Given the description of an element on the screen output the (x, y) to click on. 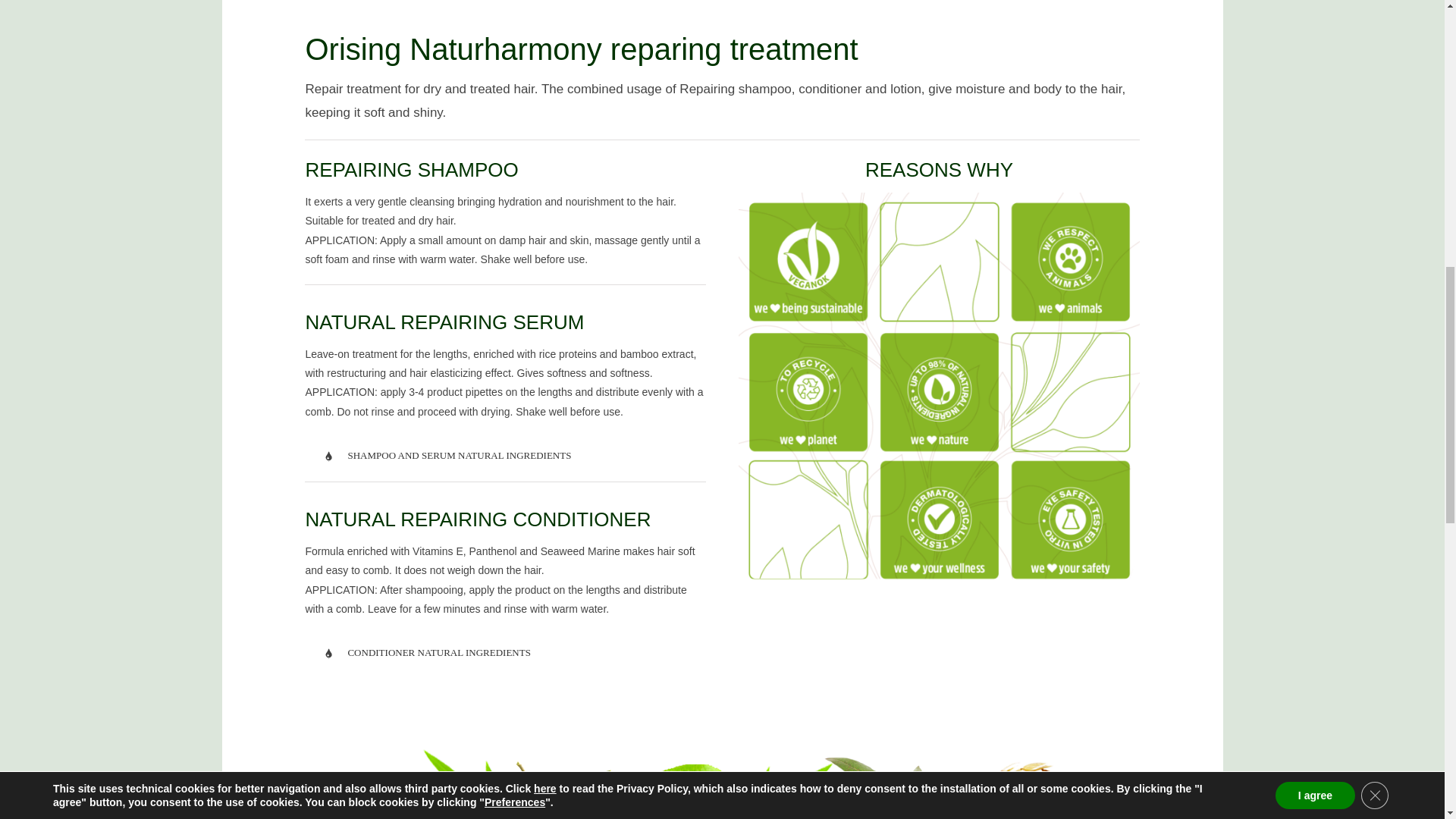
Naturharmony-REPARING-sostanze-naturali (707, 771)
